Given the description of an element on the screen output the (x, y) to click on. 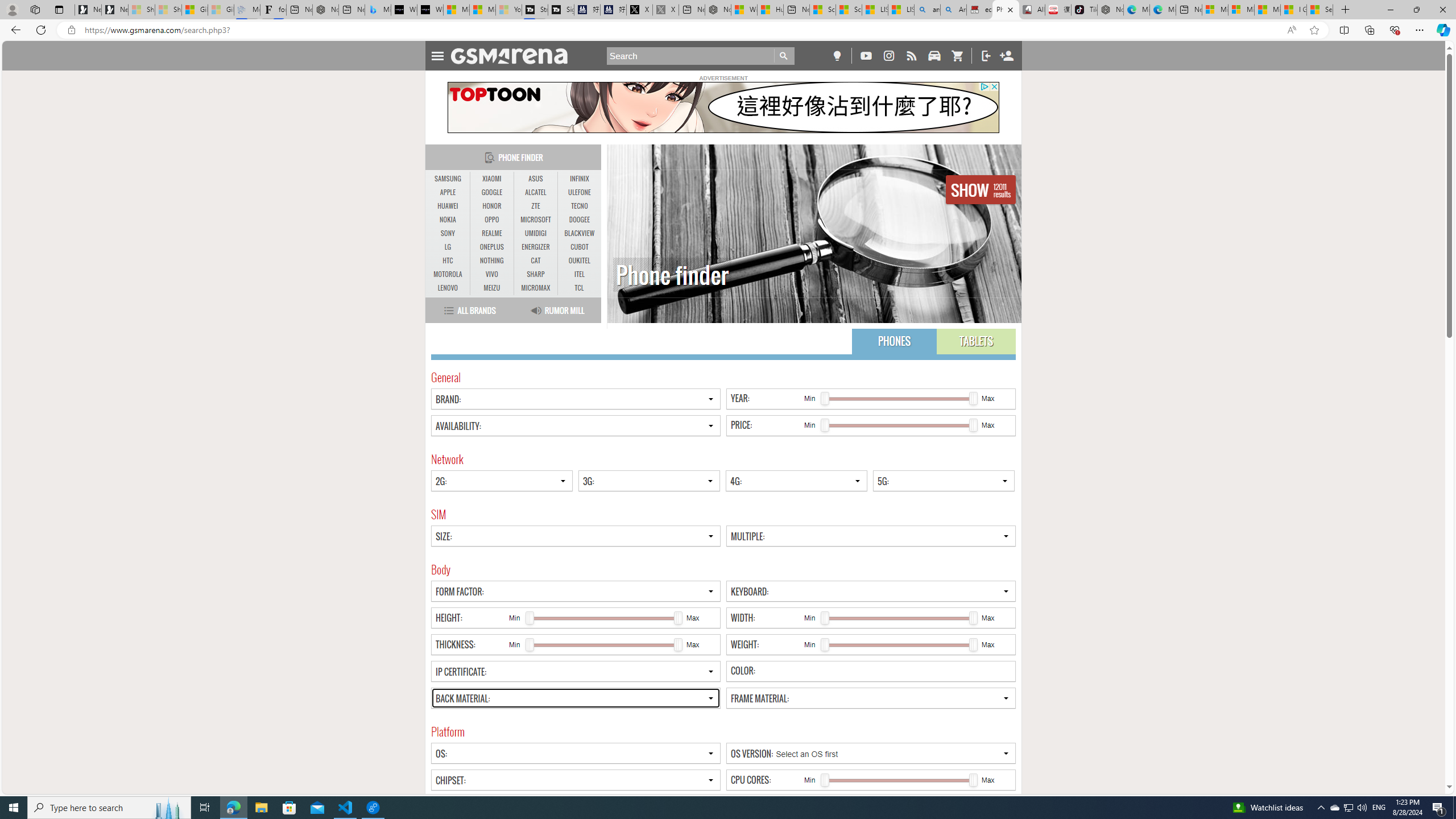
Class: privacy_out (984, 86)
REALME (491, 233)
ZTE (535, 205)
ONEPLUS (491, 246)
SONY (448, 233)
LENOVO (448, 287)
PHONES (893, 341)
ULEFONE (579, 192)
SAMSUNG (448, 178)
